Given the description of an element on the screen output the (x, y) to click on. 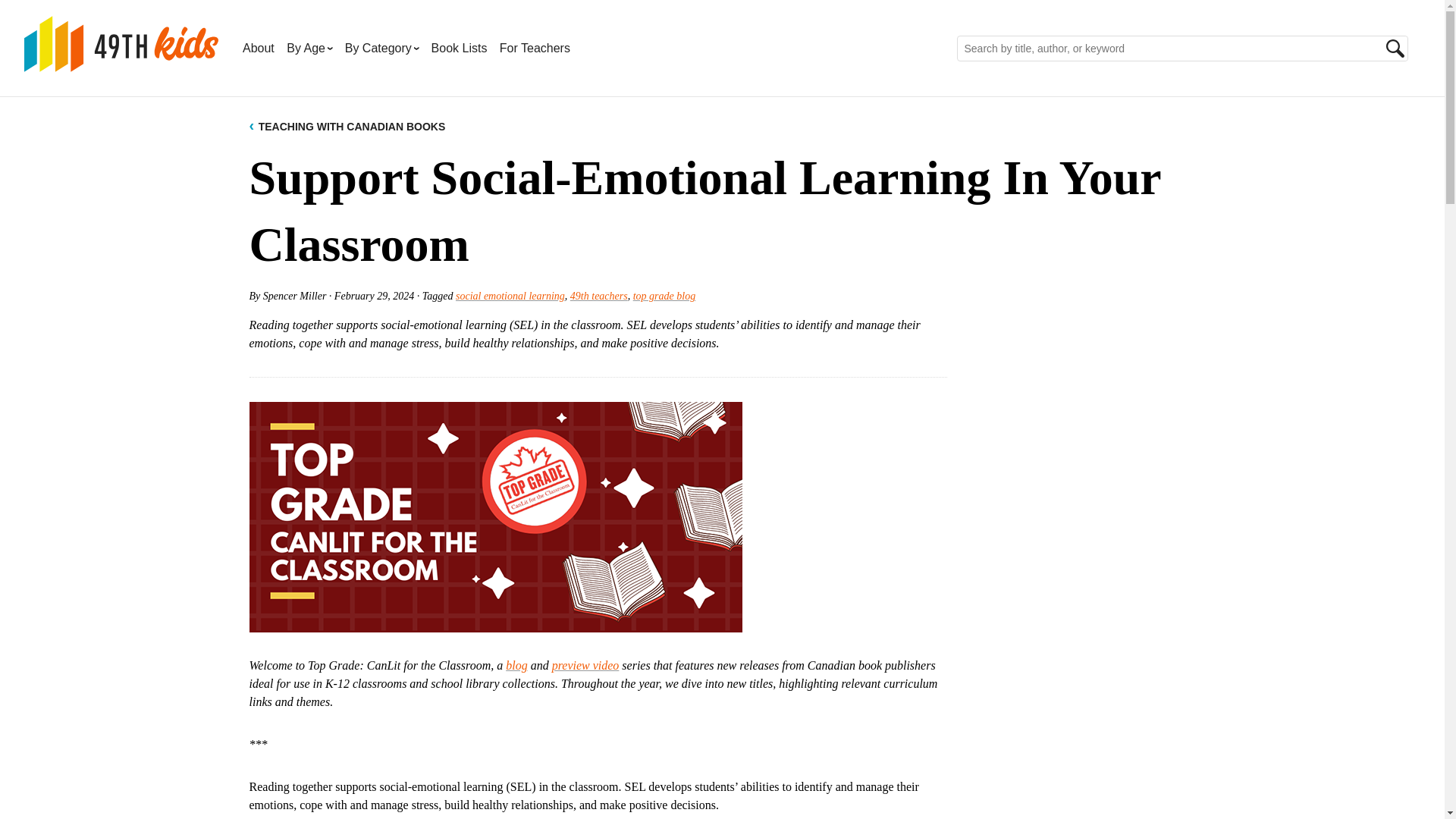
View more blog posts tagged social emotional learning (509, 296)
social emotional learning (509, 296)
top grade blog (664, 296)
49th Kids: Thousands of Canadian-authored kids and YA books (121, 62)
49th Kids (121, 62)
49th Kids: Thousands of Canadian-authored kids and YA books (121, 43)
blog (516, 664)
View more blog posts tagged top grade blog (664, 296)
